Given the description of an element on the screen output the (x, y) to click on. 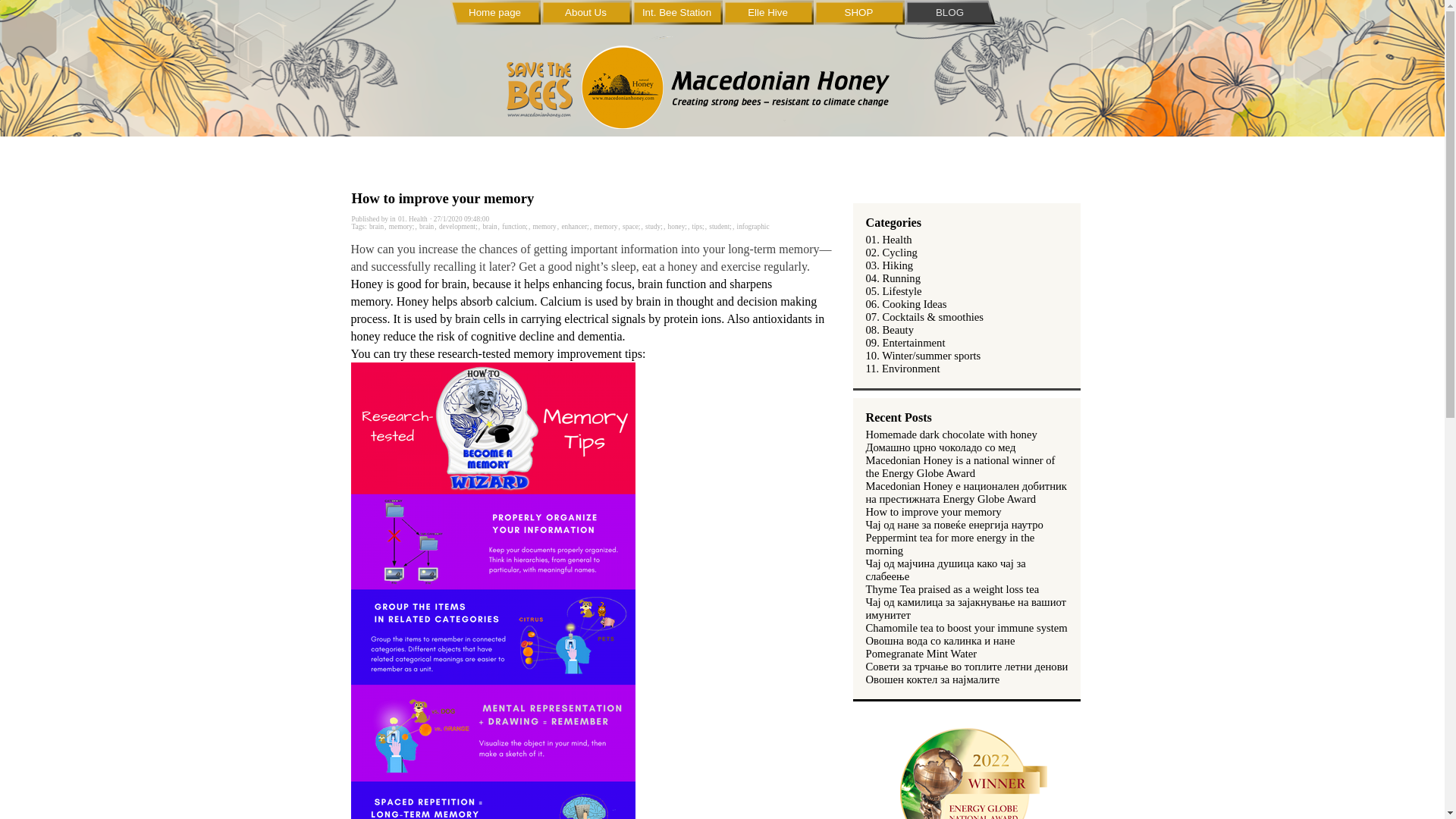
development; (458, 226)
student; (719, 226)
space; (630, 226)
infographic (753, 226)
04. Running (893, 277)
Elle Hive (767, 12)
tips; (697, 226)
08. Beauty (890, 329)
function; (514, 226)
Int. Bee Station (676, 12)
memory (604, 226)
Home page (494, 12)
memory (544, 226)
03. Hiking (890, 265)
05. Lifestyle (893, 291)
